Given the description of an element on the screen output the (x, y) to click on. 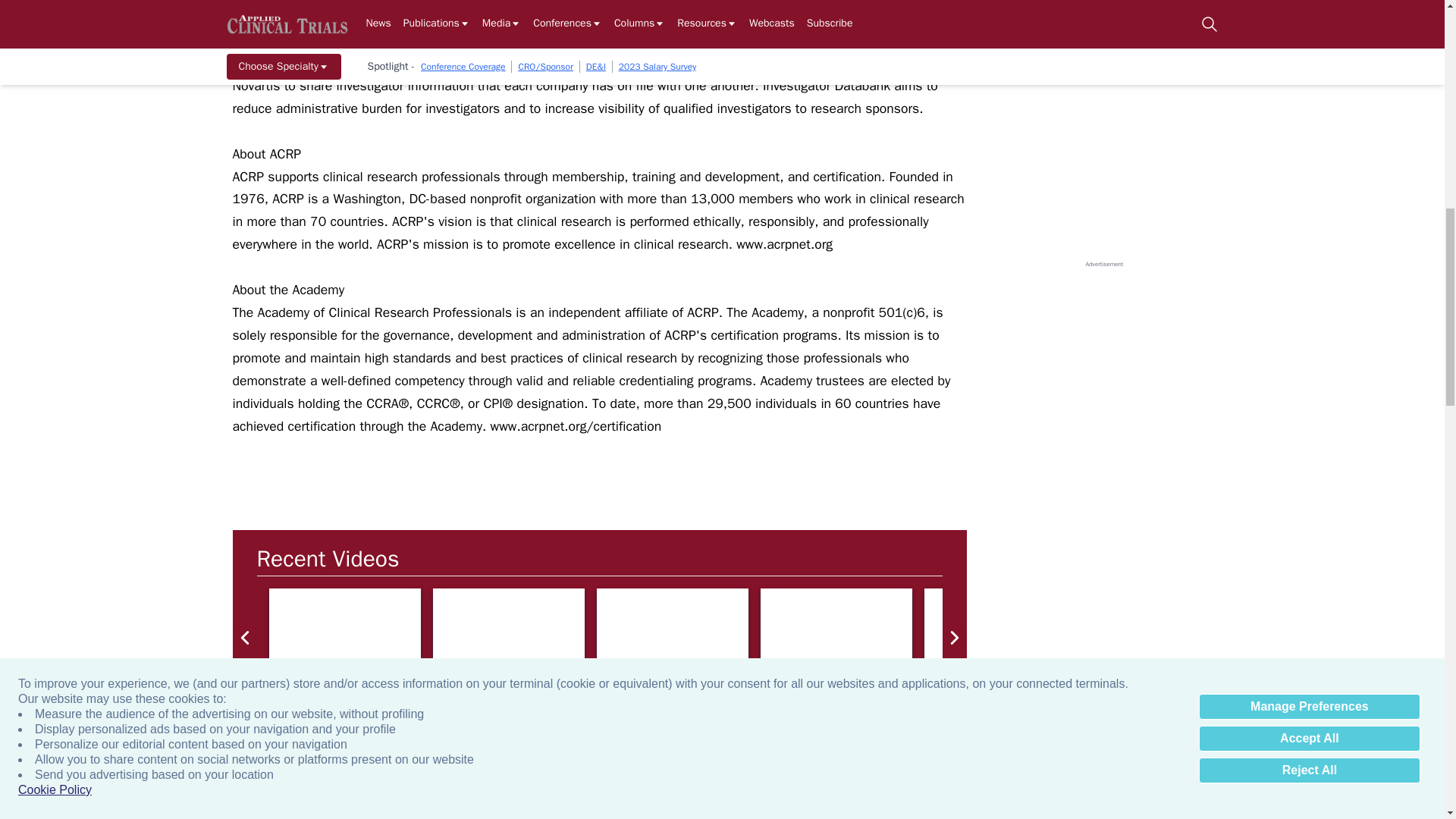
Incorporating Patient and Caregiver Perspectives  (1326, 631)
